Given the description of an element on the screen output the (x, y) to click on. 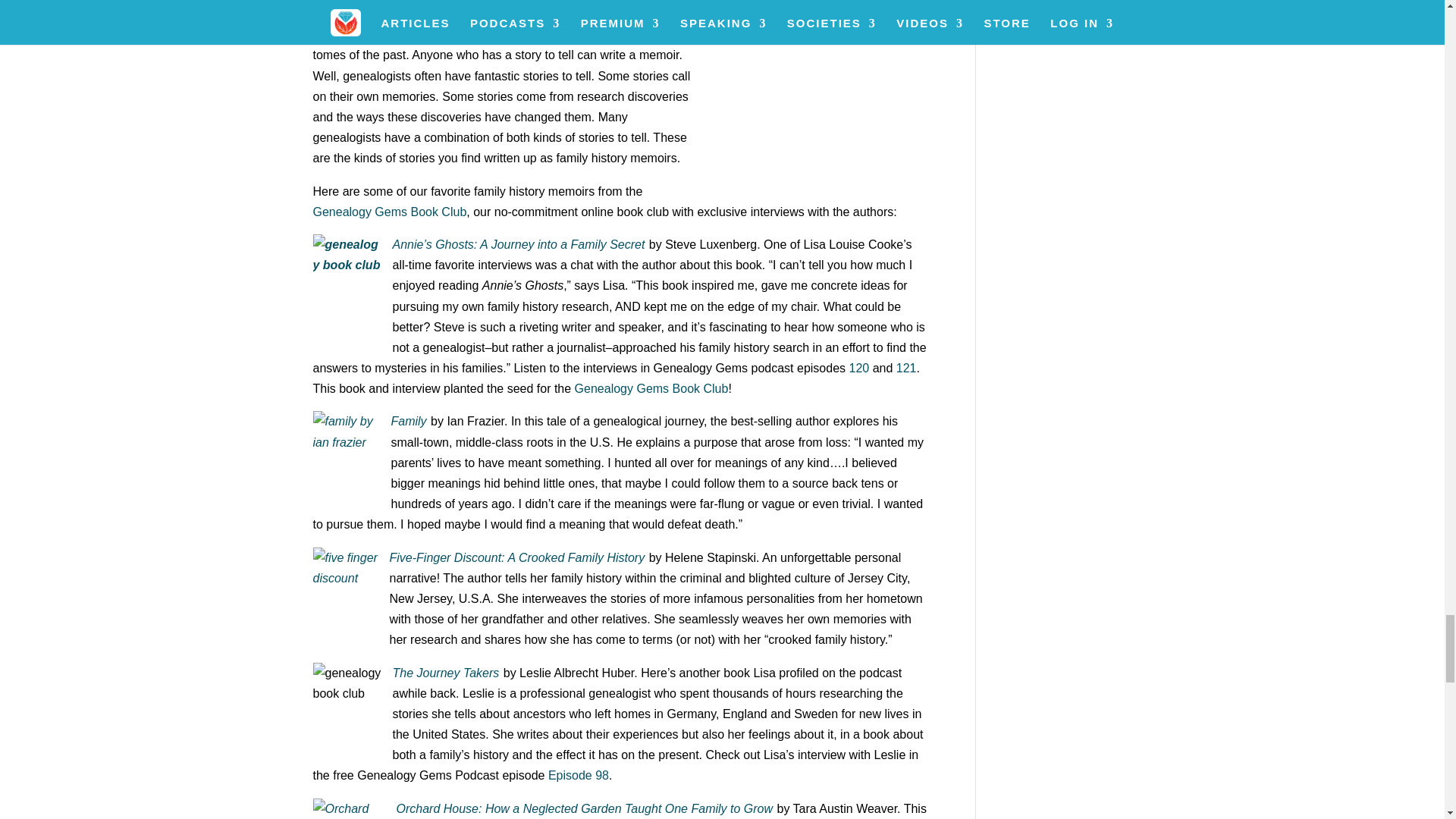
GG Epi 121 (906, 367)
GG Epi 120 (858, 367)
GG Epi 98 (578, 775)
